Given the description of an element on the screen output the (x, y) to click on. 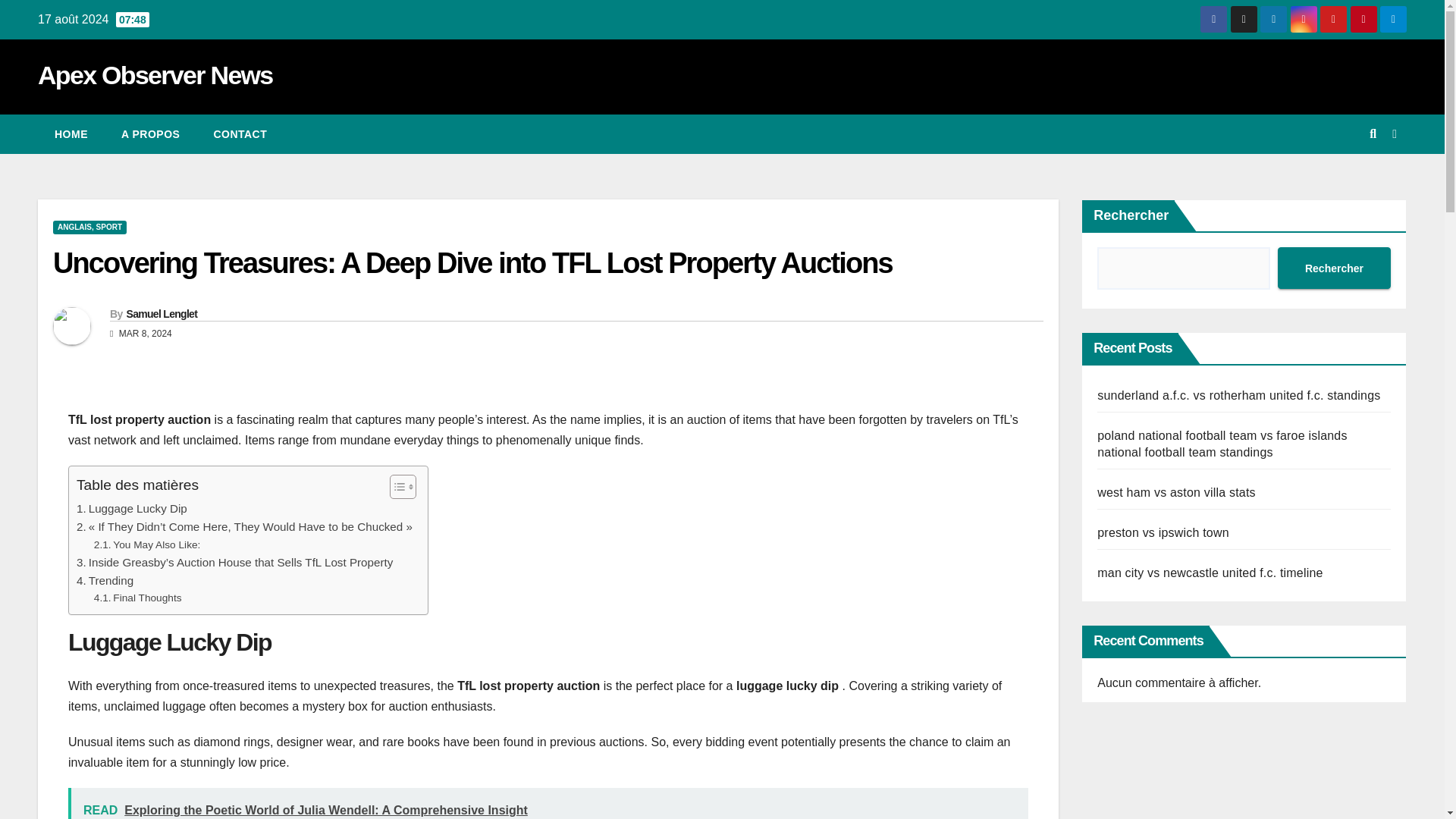
Apex Observer News (155, 74)
Home (70, 133)
You May Also Like: (147, 545)
Trending (105, 580)
Final Thoughts (138, 597)
CONTACT (239, 133)
    You May Also Like:    (147, 545)
A PROPOS (150, 133)
HOME (70, 133)
